Given the description of an element on the screen output the (x, y) to click on. 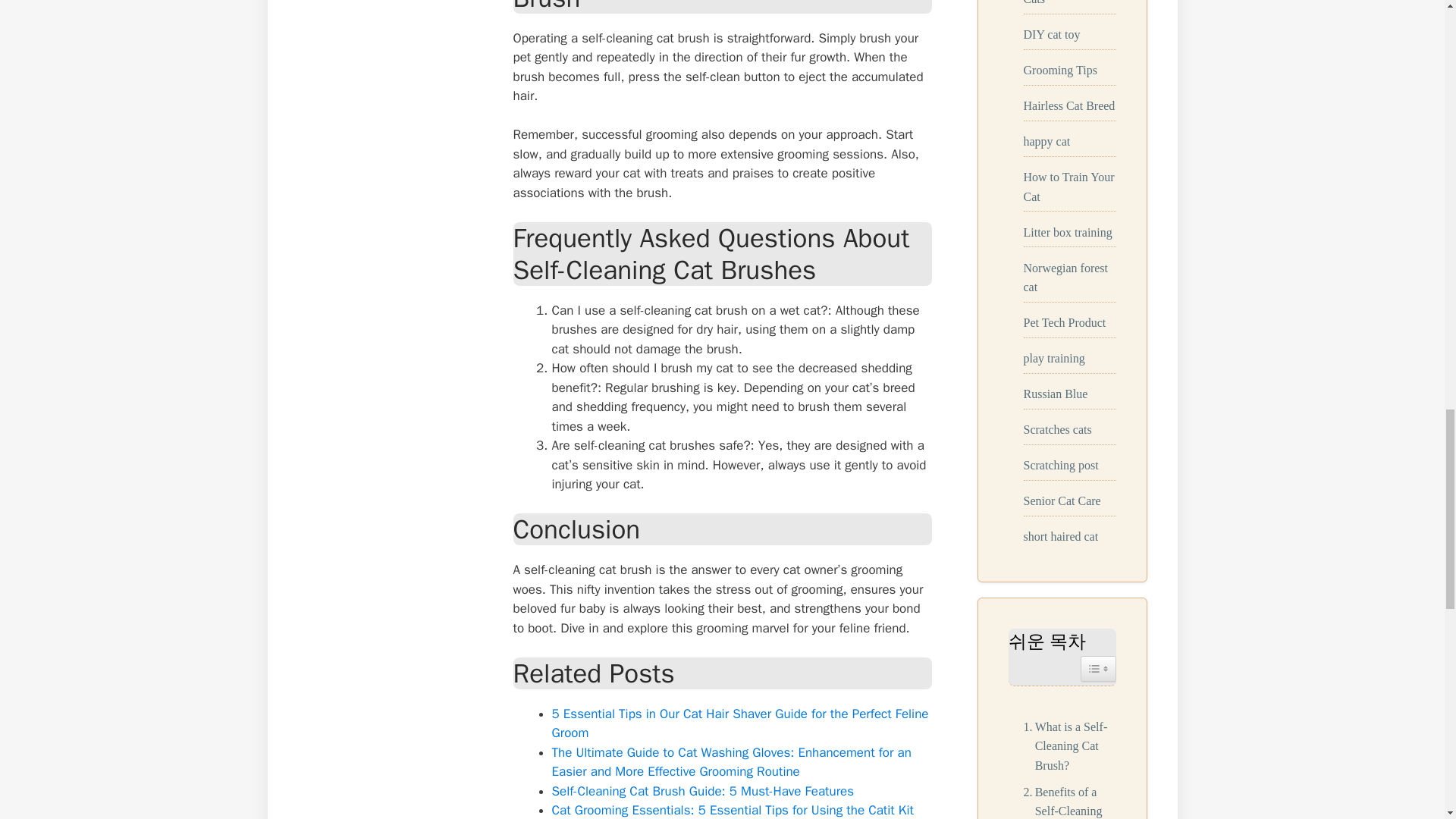
Self-Cleaning Cat Brush Guide: 5 Must-Have Features (702, 790)
